Given the description of an element on the screen output the (x, y) to click on. 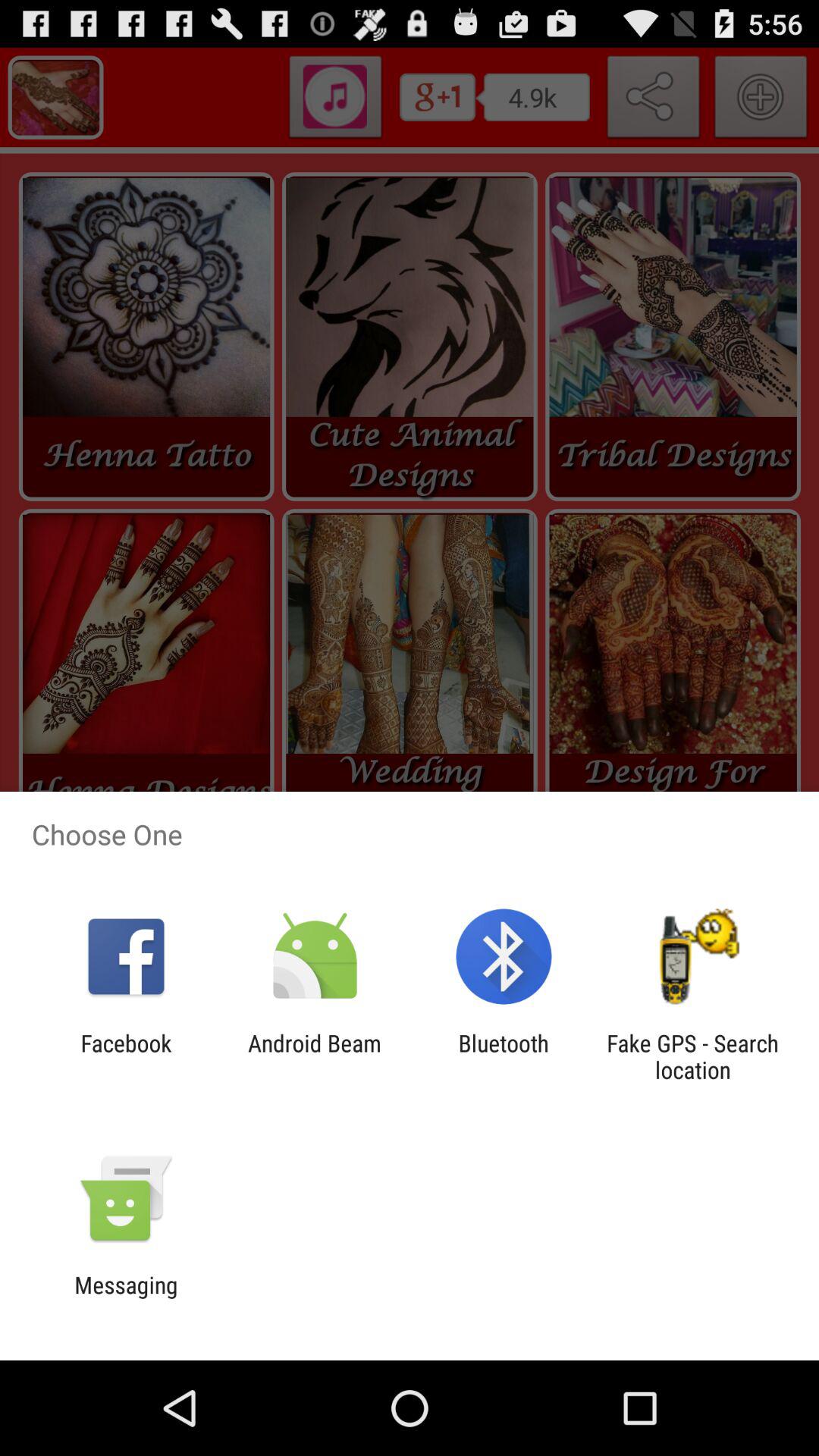
launch the bluetooth item (503, 1056)
